Given the description of an element on the screen output the (x, y) to click on. 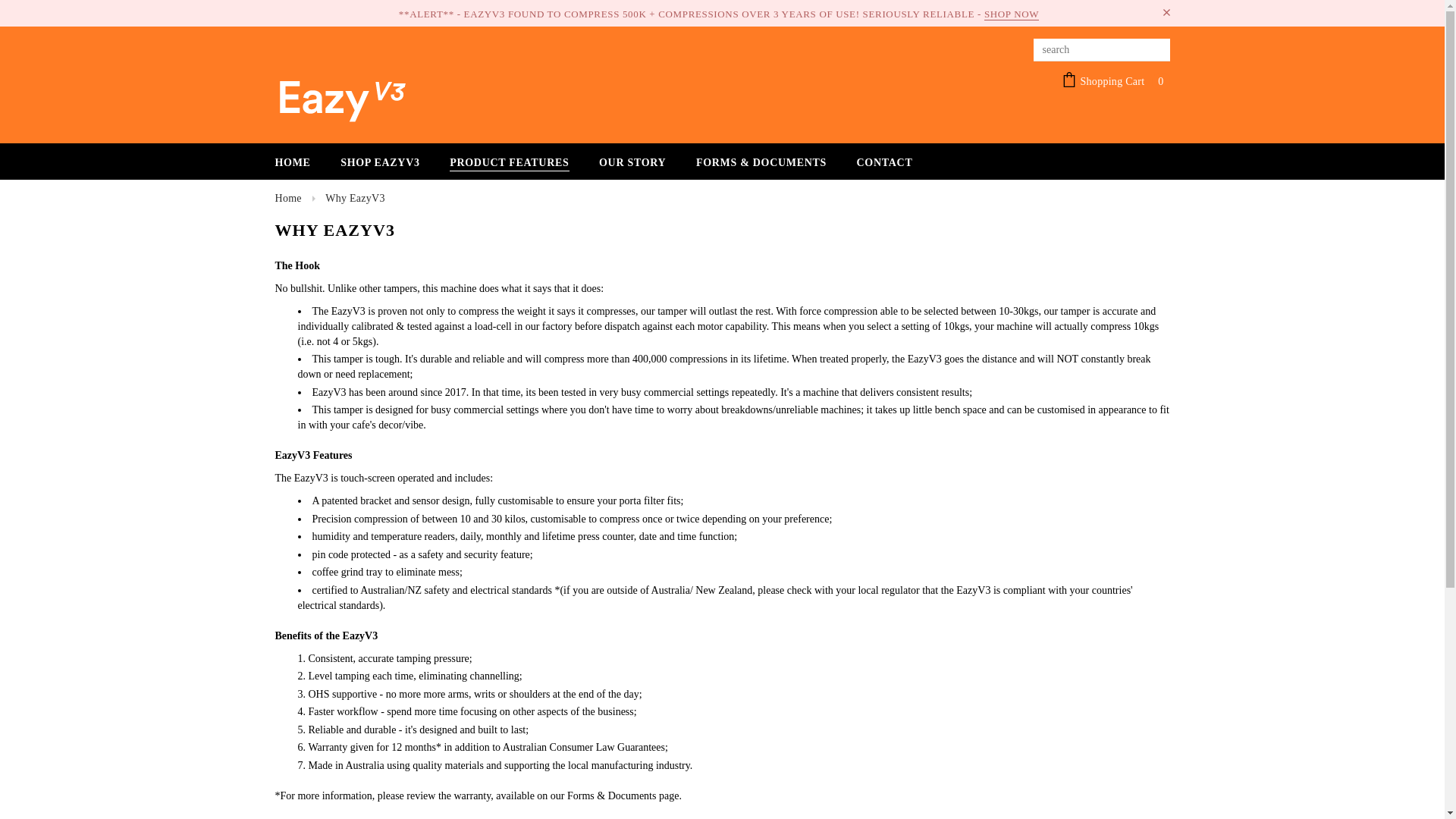
SHOP EAZYV3 Element type: text (380, 162)
HOME Element type: text (292, 162)
CONTACT Element type: text (884, 162)
Home Element type: text (287, 197)
PRODUCT FEATURES Element type: text (508, 162)
OUR STORY Element type: text (632, 162)
SHOP NOW Element type: text (1011, 14)
FORMS & DOCUMENTS Element type: text (761, 162)
Shopping Cart 0 Element type: text (1115, 81)
